Given the description of an element on the screen output the (x, y) to click on. 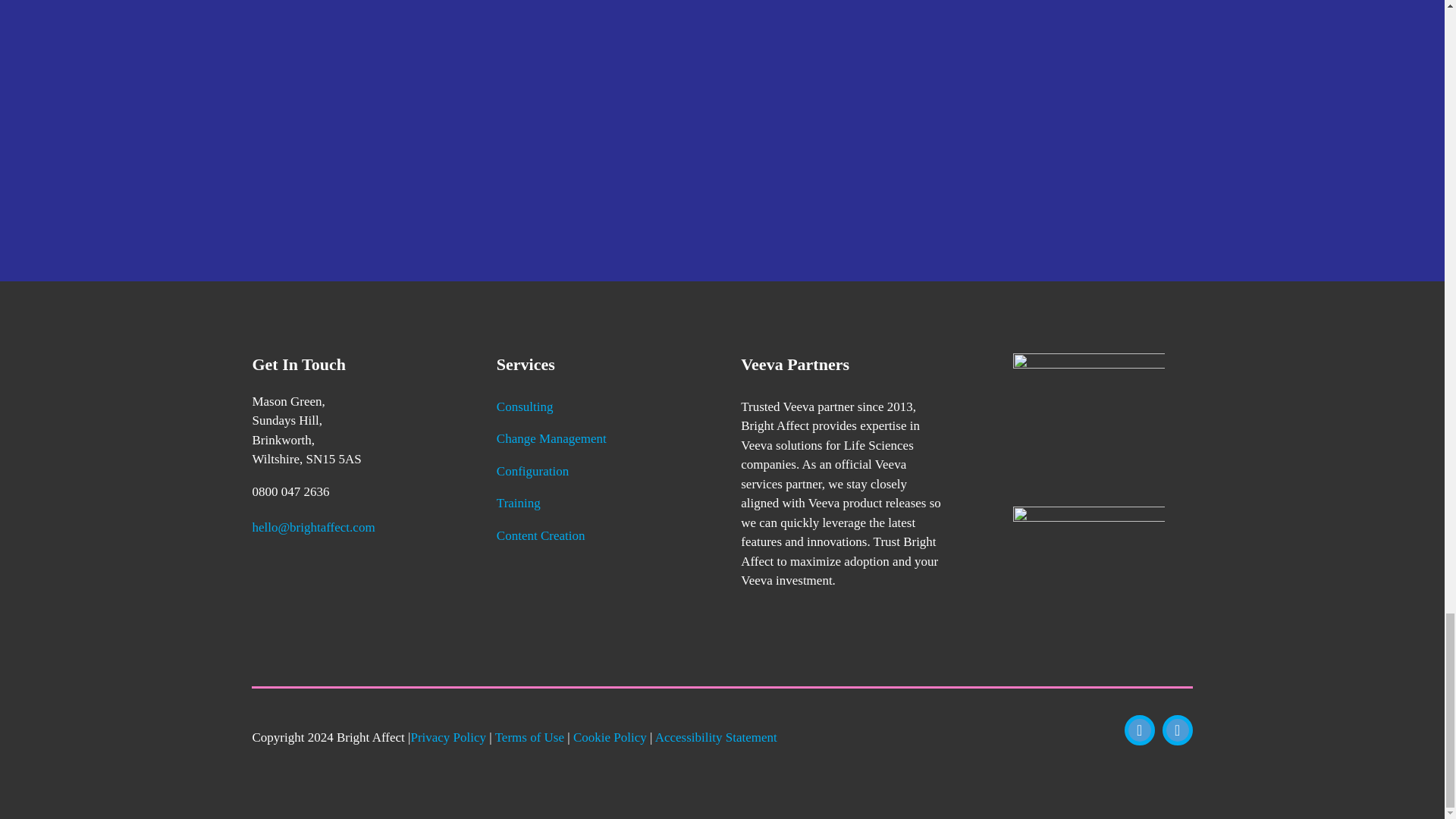
LinkedIn (1176, 729)
X (1139, 729)
